Given the description of an element on the screen output the (x, y) to click on. 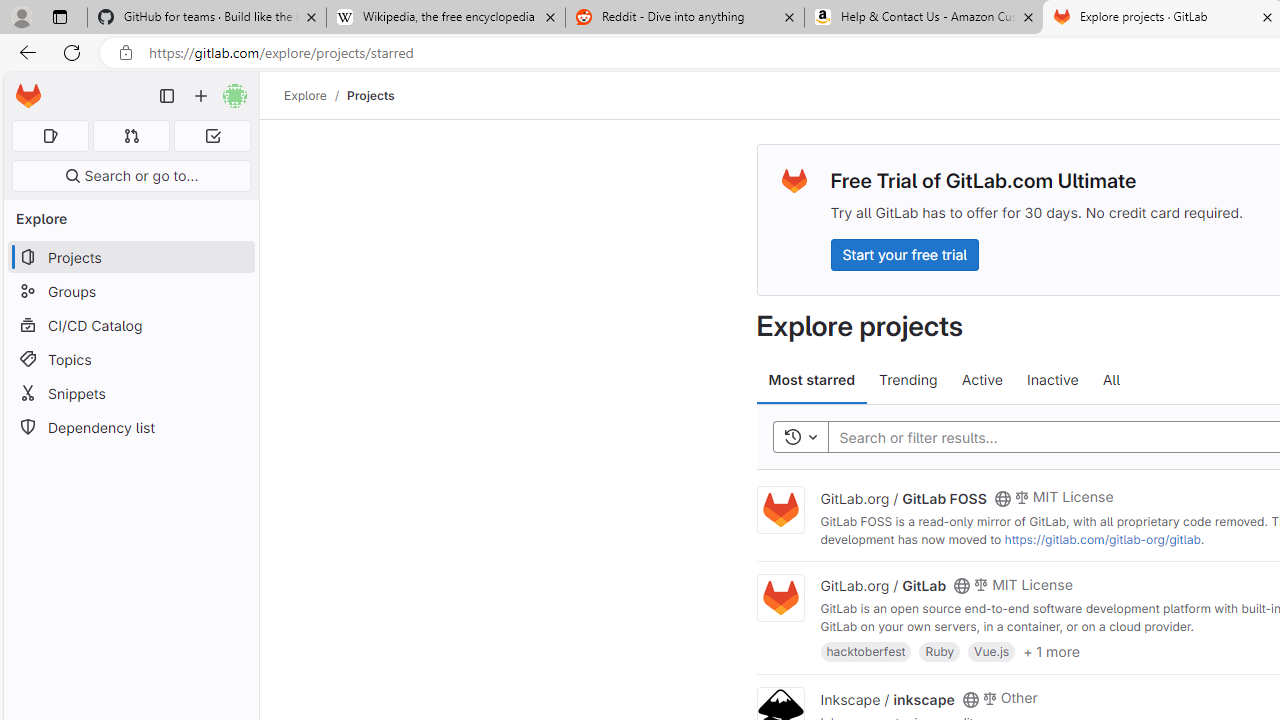
Wikipedia, the free encyclopedia (445, 17)
Homepage (27, 96)
To-Do list 0 (212, 136)
Help & Contact Us - Amazon Customer Service (924, 17)
Class: s16 (970, 699)
CI/CD Catalog (130, 325)
Reddit - Dive into anything (684, 17)
Projects (370, 95)
Projects (370, 95)
Dependency list (130, 427)
Trending (907, 379)
